Given the description of an element on the screen output the (x, y) to click on. 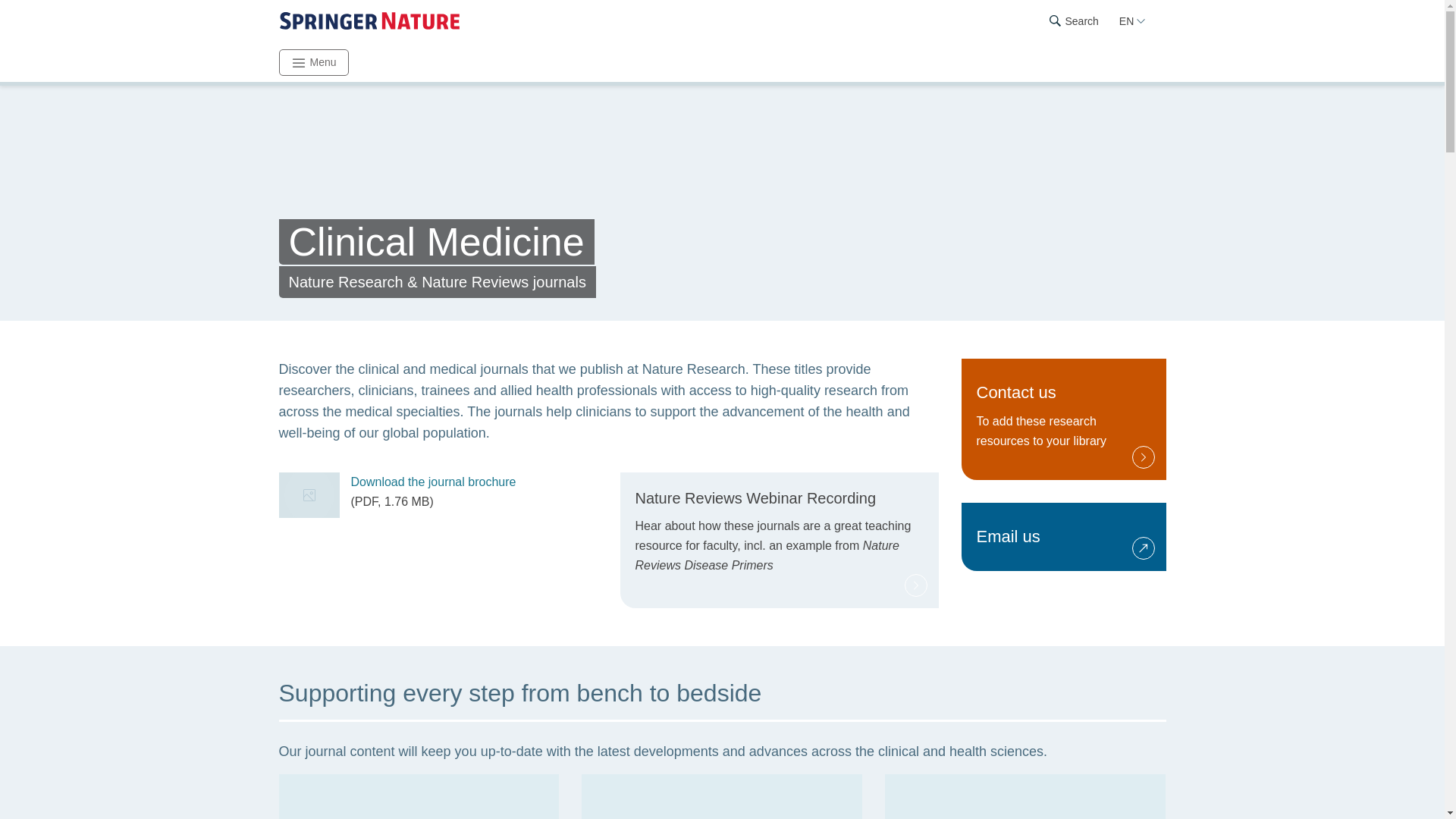
Contact us for more information (1063, 536)
Menu (314, 62)
Springer Nature (369, 20)
Webinar recording brought to you by ACRL-Choice (779, 540)
Download the journal brochure (432, 481)
Email us (1063, 536)
Request access (1063, 418)
